Given the description of an element on the screen output the (x, y) to click on. 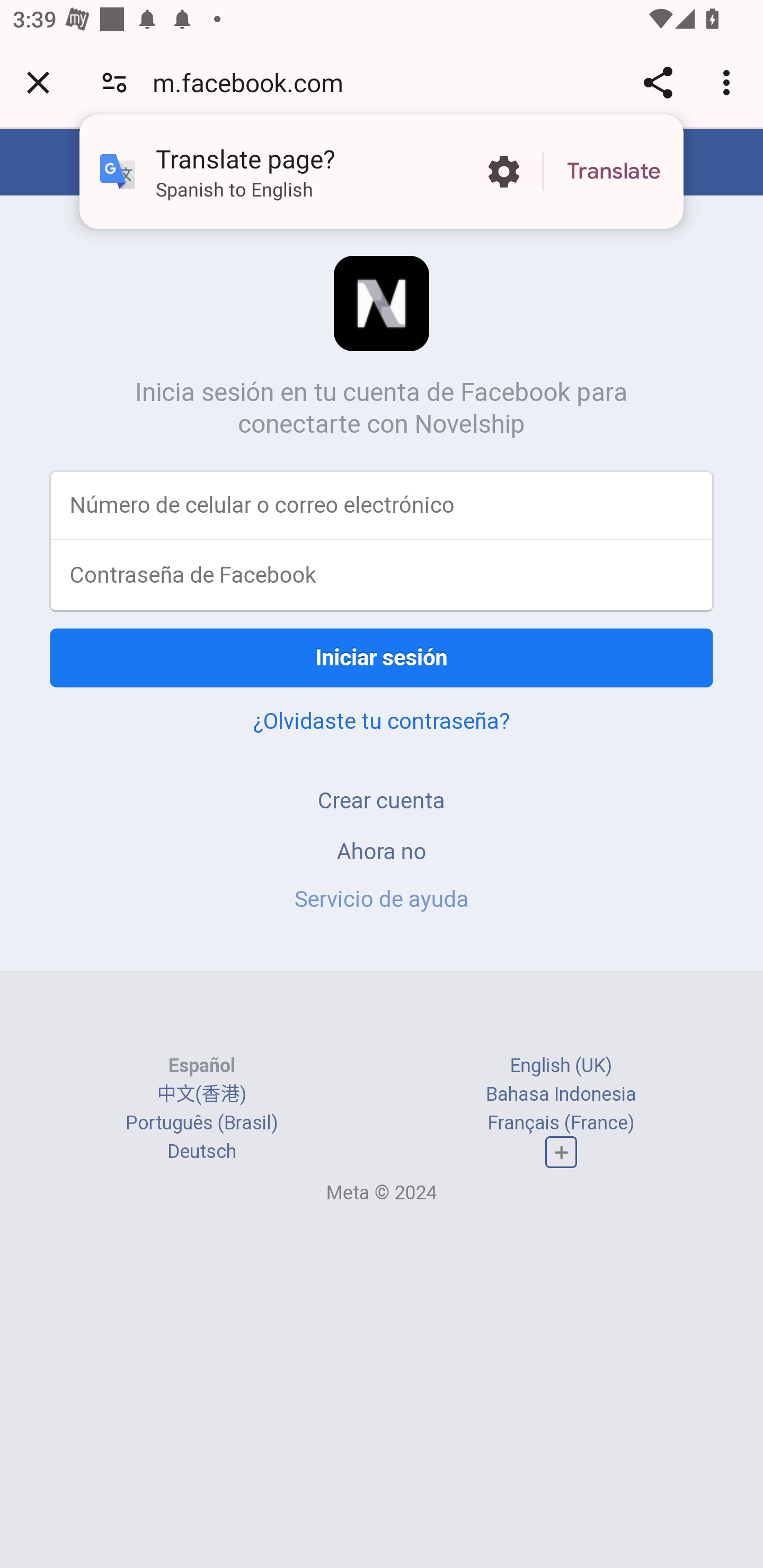
Close tab (38, 82)
Share (657, 82)
Customize and control Google Chrome (729, 82)
Connection is secure (114, 81)
m.facebook.com (254, 81)
Translate (613, 171)
More options in the Translate page? (503, 171)
Iniciar sesión (381, 657)
¿Olvidaste tu contraseña? (381, 720)
Crear cuenta (381, 800)
Ahora no (381, 850)
Servicio de ayuda (381, 898)
English (UK) (560, 1065)
中文(香港) (201, 1093)
Bahasa Indonesia (560, 1093)
Português (Brasil) (201, 1122)
Français (France) (560, 1122)
Lista completa de idiomas (560, 1152)
Deutsch (201, 1151)
